Given the description of an element on the screen output the (x, y) to click on. 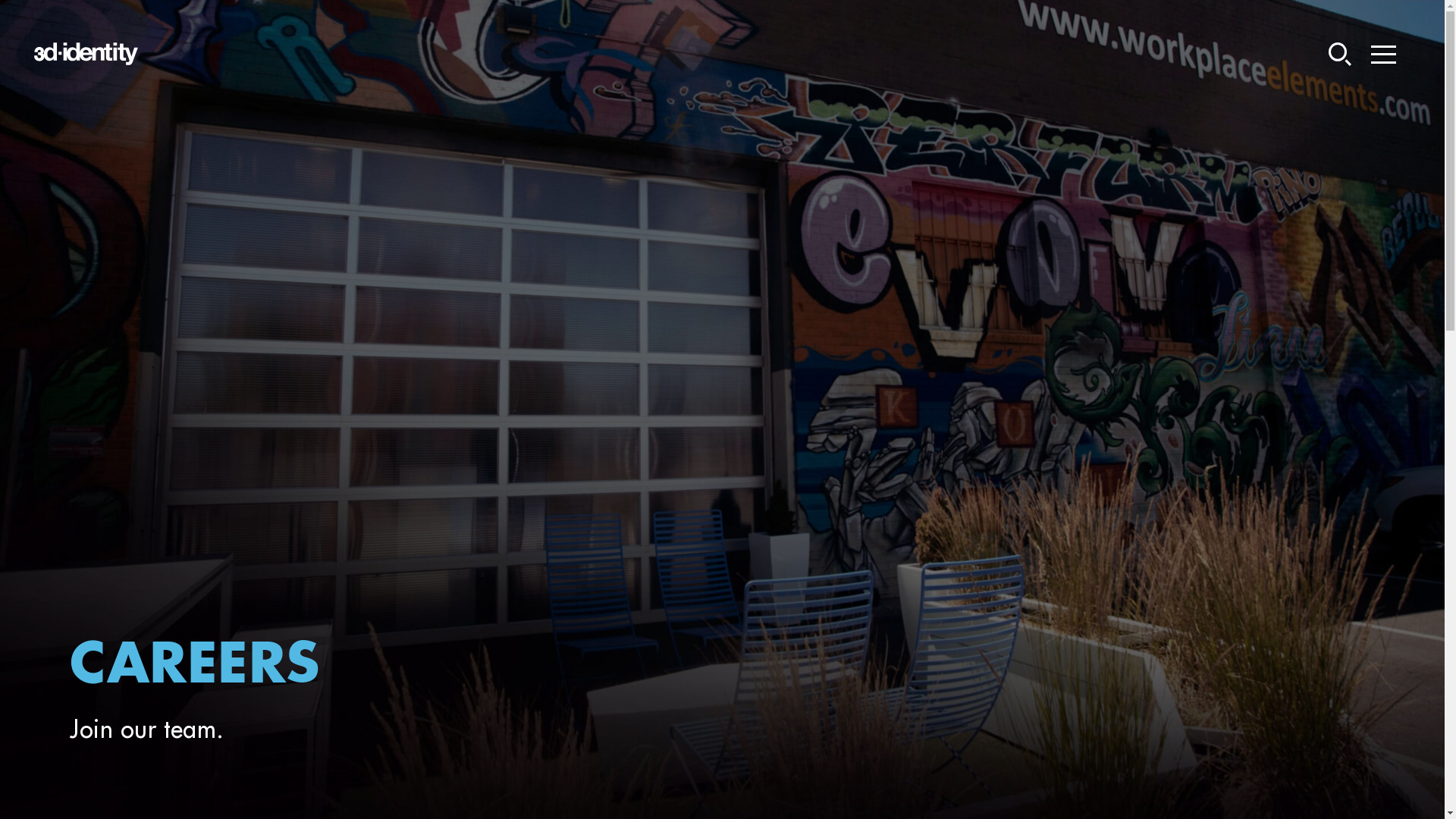
3DI - Logo Element type: hover (85, 53)
